Given the description of an element on the screen output the (x, y) to click on. 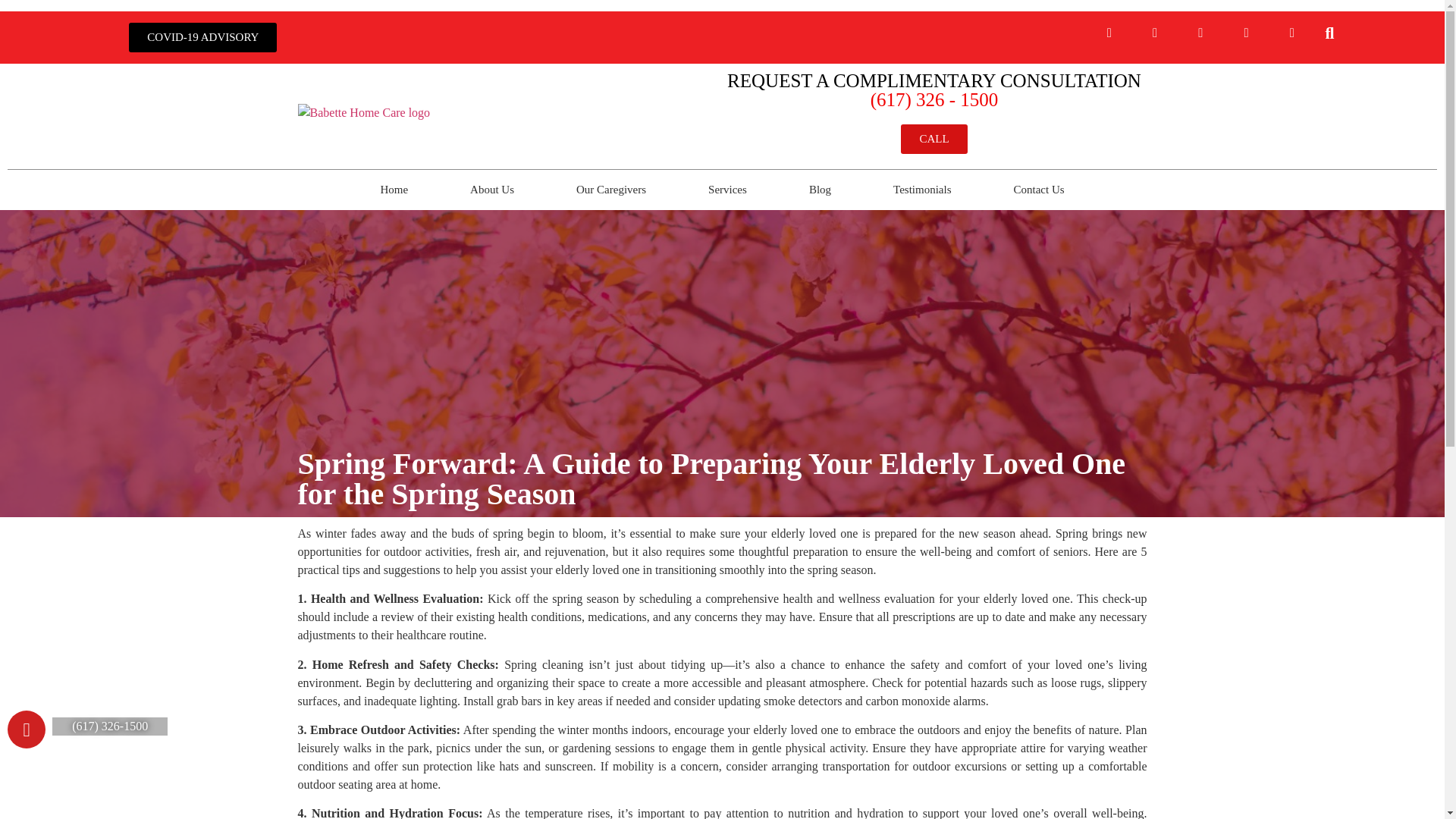
Home (394, 189)
Our Caregivers (610, 189)
COVID-19 ADVISORY (202, 37)
Services (727, 189)
REQUEST A COMPLIMENTARY CONSULTATION (933, 80)
About Us (491, 189)
Contact Us (1039, 189)
Testimonials (921, 189)
CALL (933, 138)
Blog (819, 189)
